Given the description of an element on the screen output the (x, y) to click on. 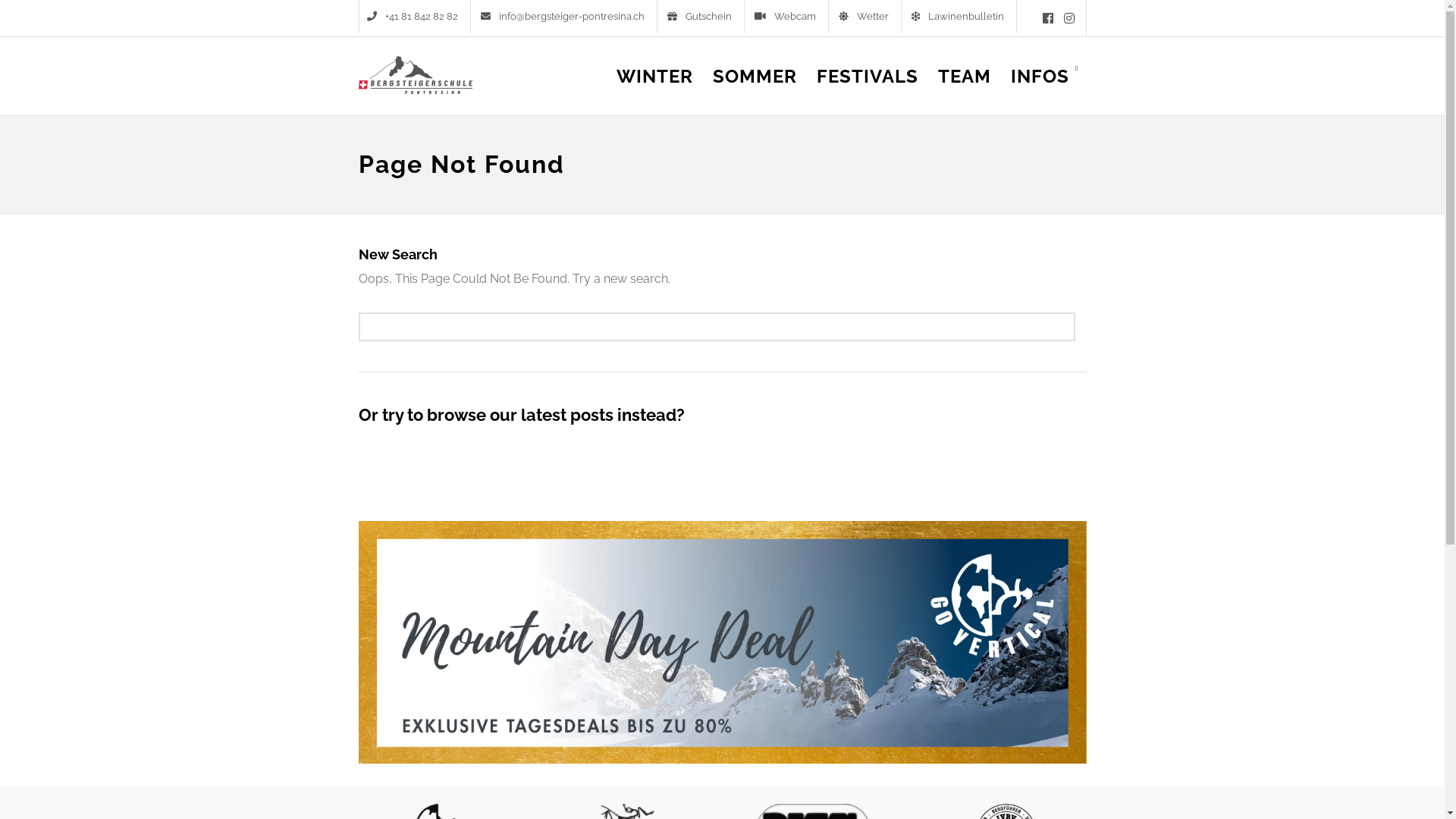
Lawinenbulletin Element type: text (959, 15)
Wetter Element type: text (865, 15)
+41 81 842 82 82 Element type: text (414, 15)
FESTIVALS Element type: text (867, 87)
Instagram Element type: hover (1068, 17)
SOMMER Element type: text (754, 87)
TEAM Element type: text (964, 87)
WINTER Element type: text (654, 87)
Type and hit enter Element type: hover (716, 326)
info@bergsteiger-pontresina.ch Element type: text (564, 15)
INFOS Element type: text (1044, 87)
Webcam Element type: text (786, 15)
Gutschein Element type: text (701, 15)
